Given the description of an element on the screen output the (x, y) to click on. 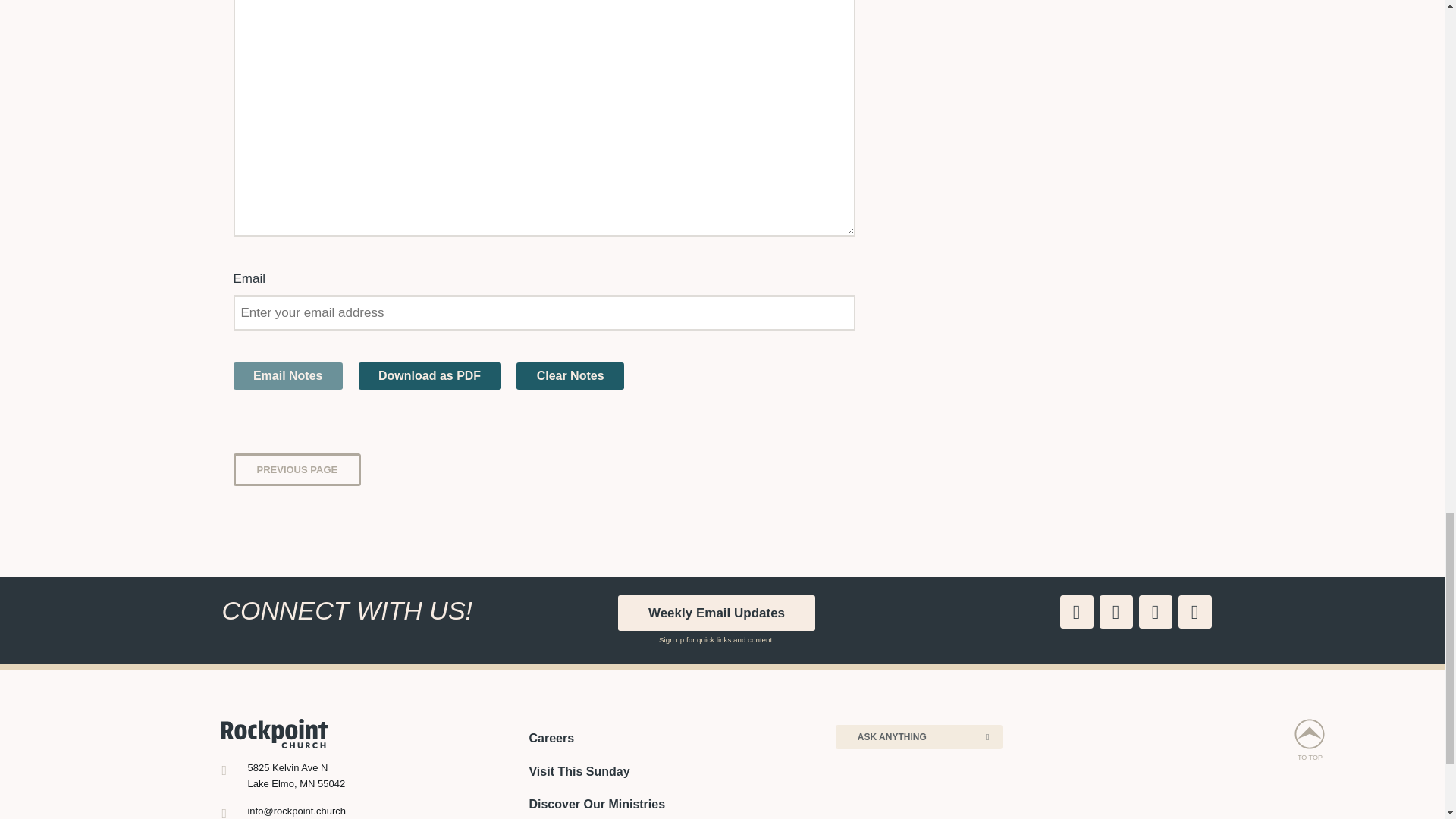
Vimeo (1155, 611)
Back (296, 469)
Visit This Sunday (578, 771)
TO TOP (1284, 740)
Instagram (1115, 611)
Careers (550, 738)
YouTube (1194, 611)
Facebook (1076, 611)
Discover Our Ministries (596, 803)
Rockpoint Church (274, 733)
